Given the description of an element on the screen output the (x, y) to click on. 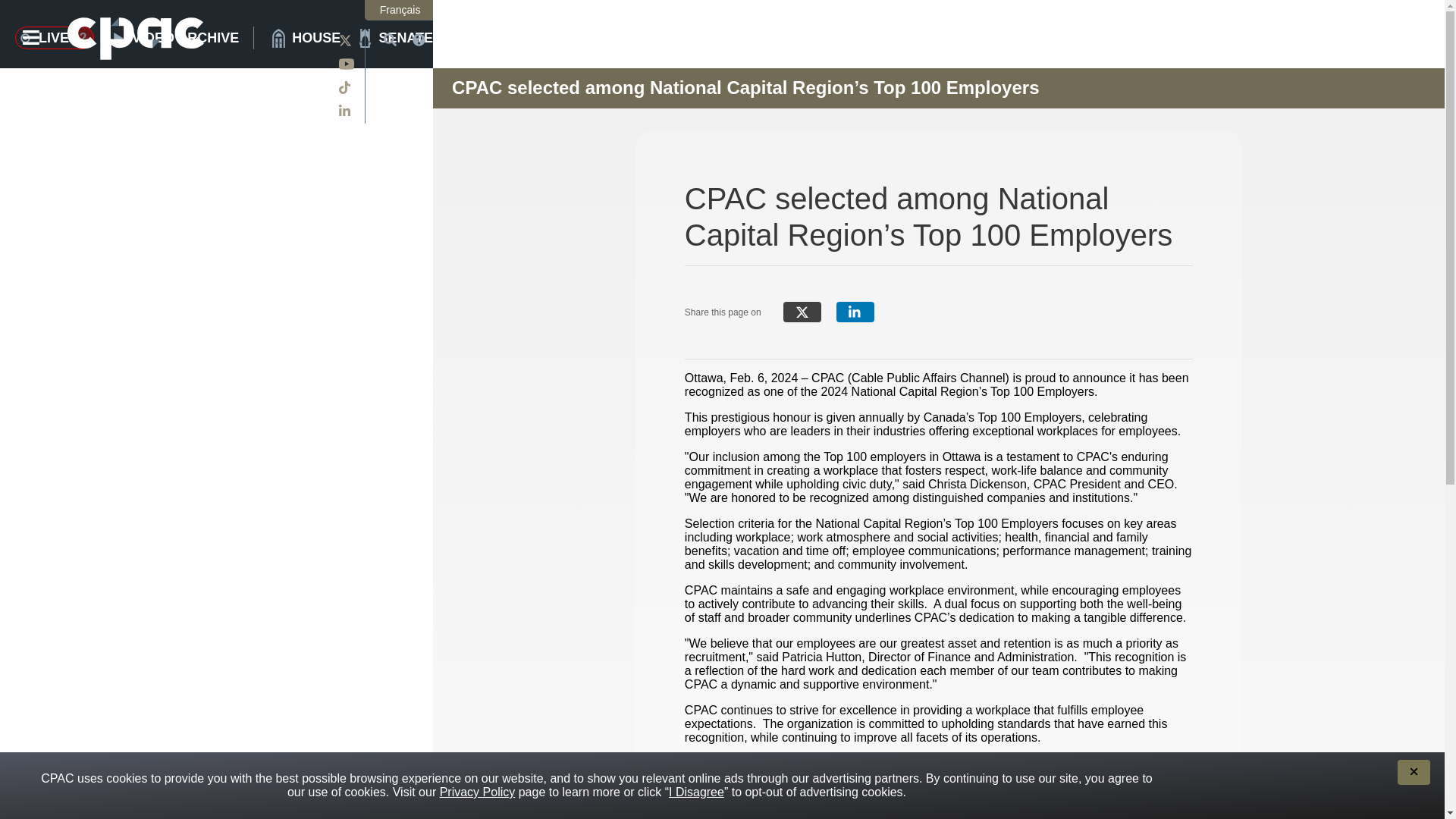
SENATE (393, 37)
HOUSE (304, 37)
VIDEO ARCHIVE (54, 37)
Search (420, 39)
Help (181, 37)
